Given the description of an element on the screen output the (x, y) to click on. 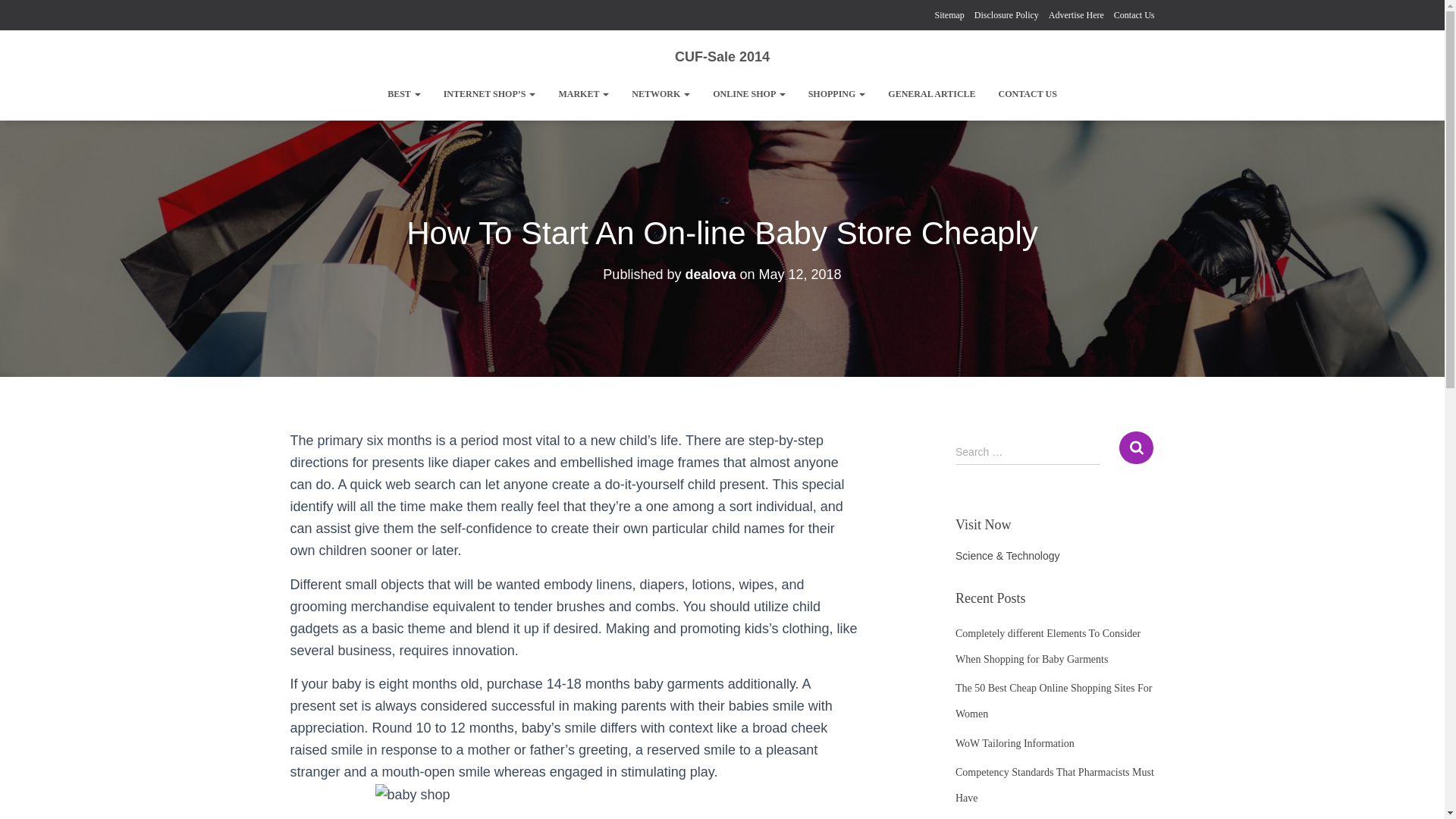
Advertise Here (1075, 15)
Best (402, 94)
CUF-Sale 2014 (721, 56)
Search (1136, 447)
SHOPPING (836, 94)
MARKET (583, 94)
Disclosure Policy (1006, 15)
Advertise Here (1075, 15)
dealova (709, 273)
Sitemap (948, 15)
CUF-Sale 2014 (721, 56)
ONLINE SHOP (748, 94)
Disclosure Policy (1006, 15)
GENERAL ARTICLE (931, 94)
CONTACT US (1027, 94)
